Given the description of an element on the screen output the (x, y) to click on. 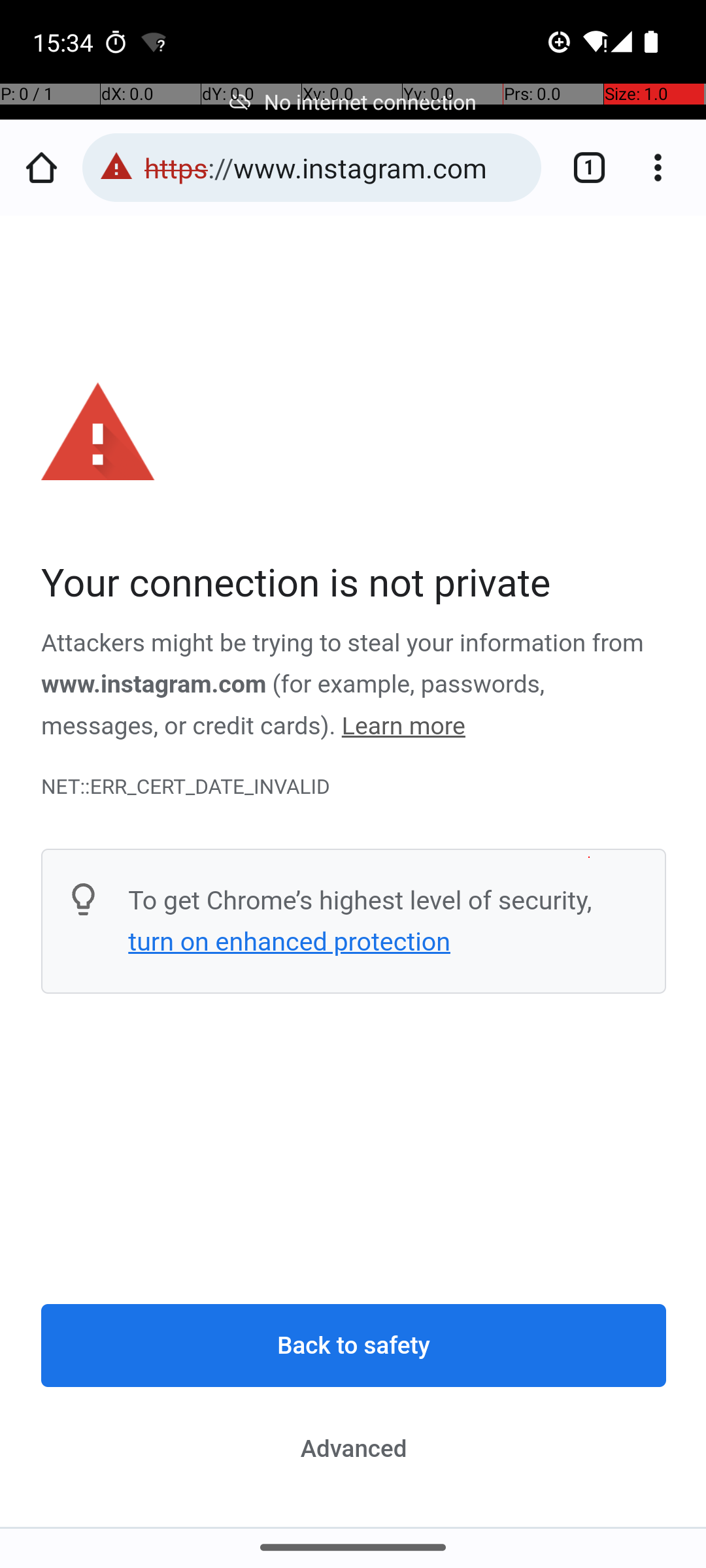
https://www.instagram.com Element type: android.widget.EditText (335, 167)
www.instagram.com Element type: android.widget.TextView (154, 684)
